Given the description of an element on the screen output the (x, y) to click on. 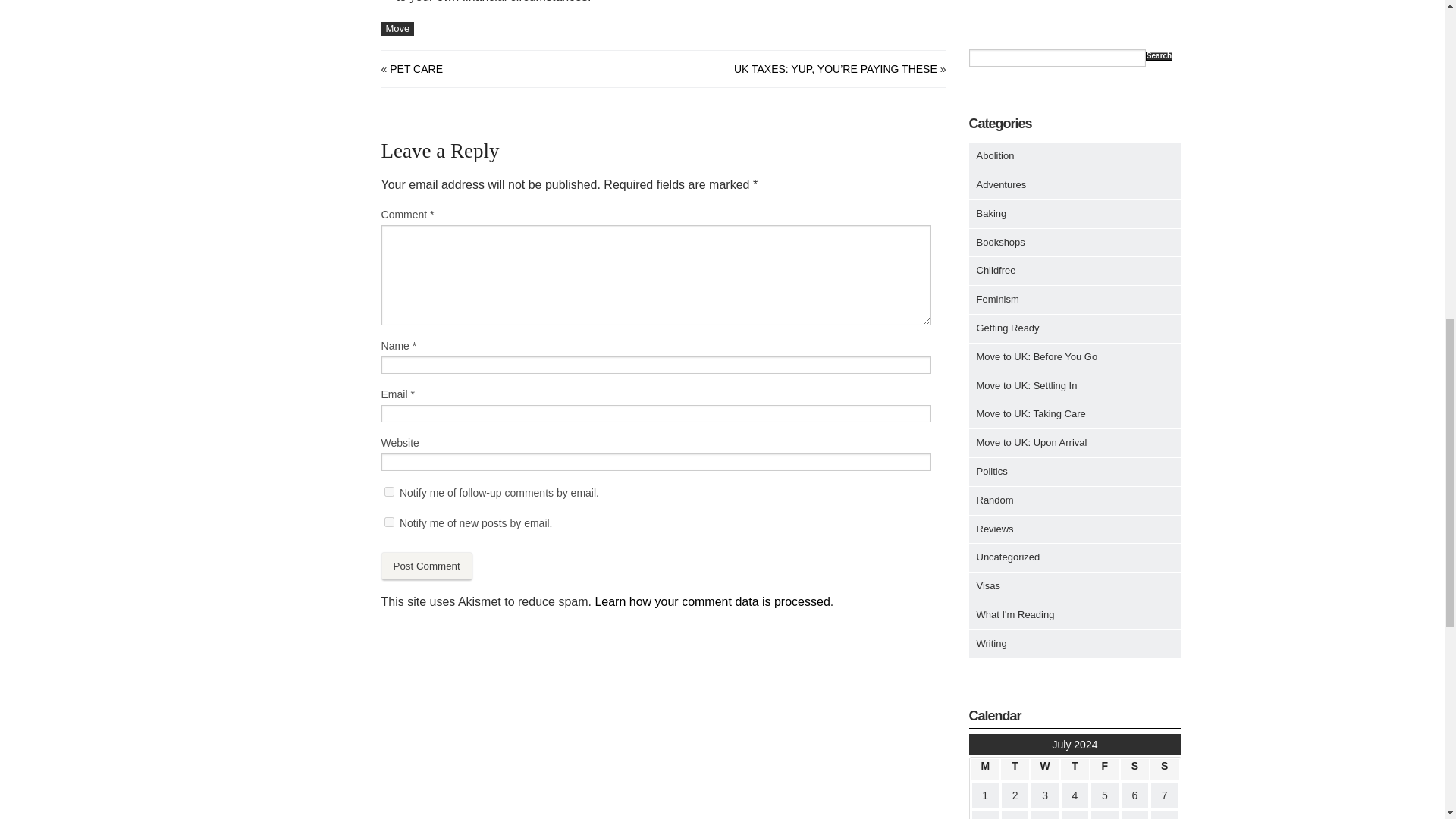
Post Comment (426, 565)
Saturday (1134, 769)
Tuesday (1015, 769)
subscribe (389, 491)
Sunday (1163, 769)
Thursday (1075, 769)
Monday (984, 769)
subscribe (389, 521)
Wednesday (1044, 769)
Friday (1104, 769)
